Given the description of an element on the screen output the (x, y) to click on. 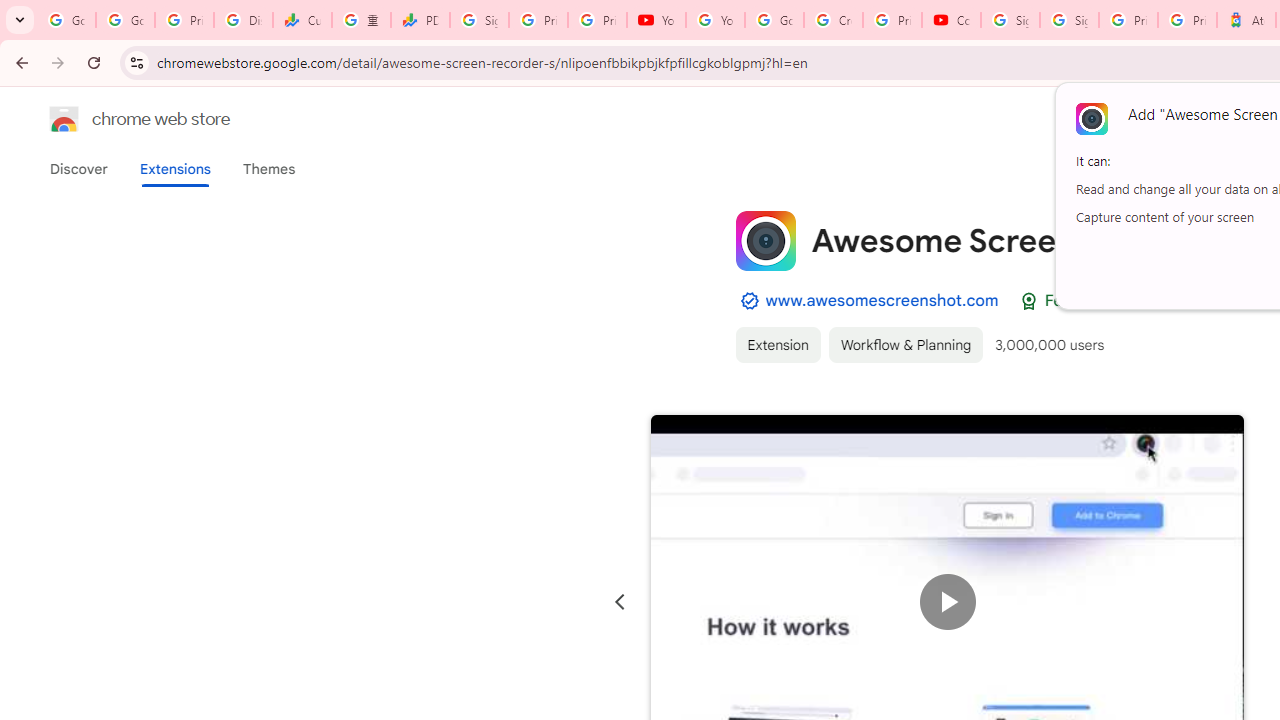
YouTube (715, 20)
Extensions (174, 169)
Google Workspace Admin Community (66, 20)
www.awesomescreenshot.com (881, 300)
YouTube (656, 20)
Privacy Checkup (597, 20)
Currencies - Google Finance (301, 20)
